Given the description of an element on the screen output the (x, y) to click on. 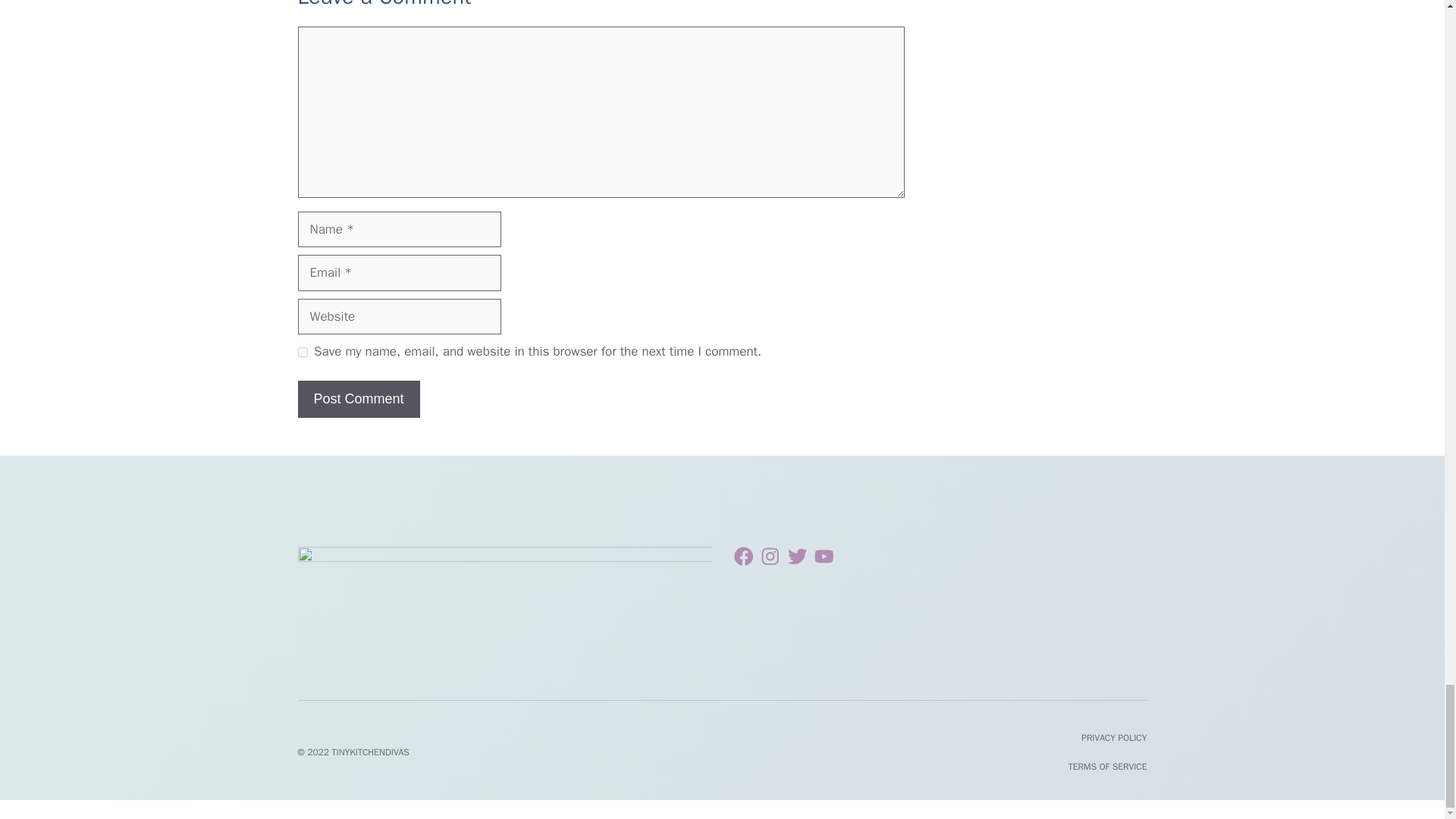
yes (302, 352)
Post Comment (358, 398)
Post Comment (358, 398)
